Given the description of an element on the screen output the (x, y) to click on. 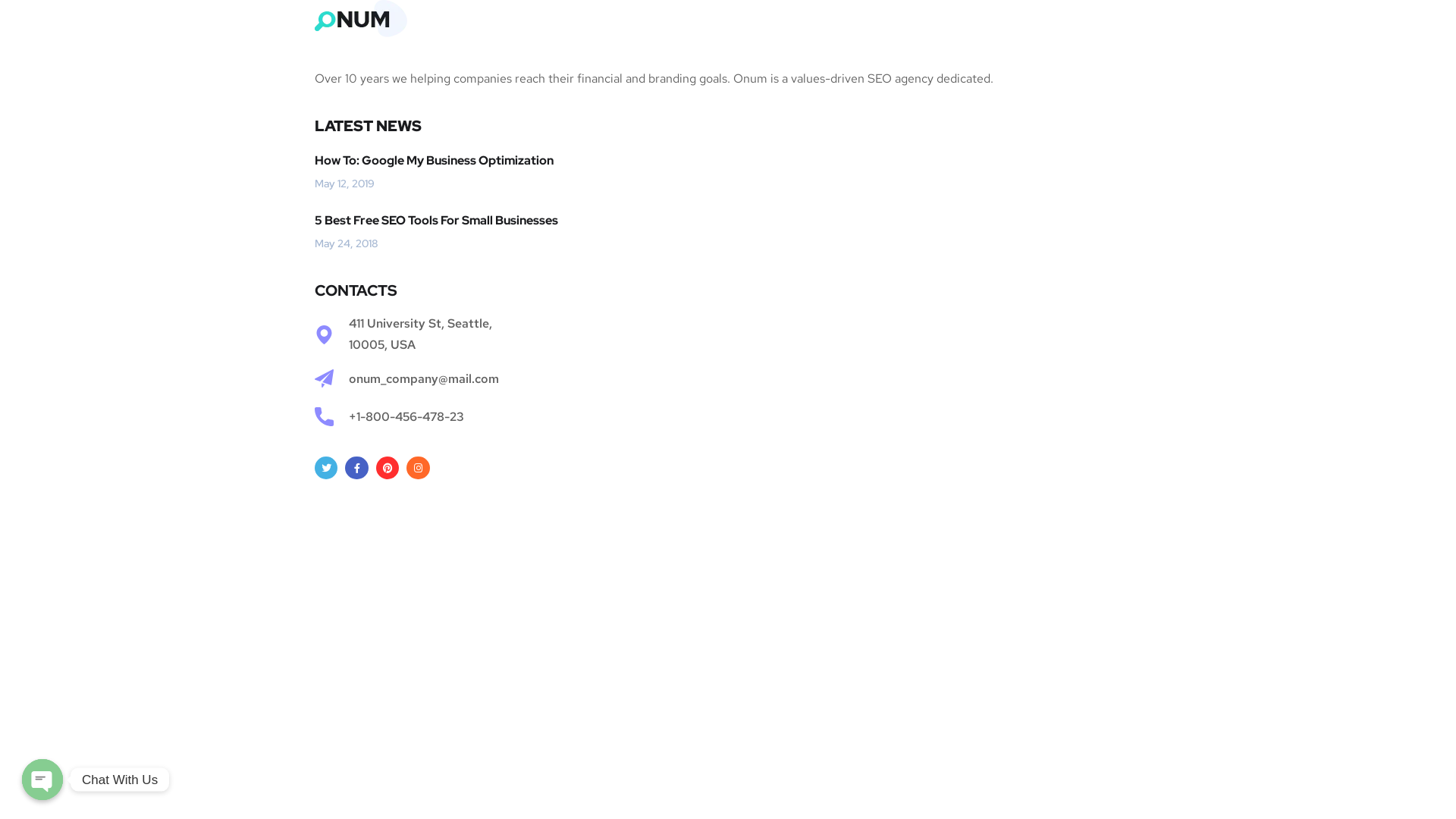
How To: Google My Business Optimization Element type: text (727, 160)
5 Best Free SEO Tools For Small Businesses Element type: text (727, 220)
411 University St, Seattle,

10005, USA Element type: text (727, 334)
+1-800-456-478-23 Element type: text (727, 416)
onum_company@mail.com Element type: text (727, 378)
